Given the description of an element on the screen output the (x, y) to click on. 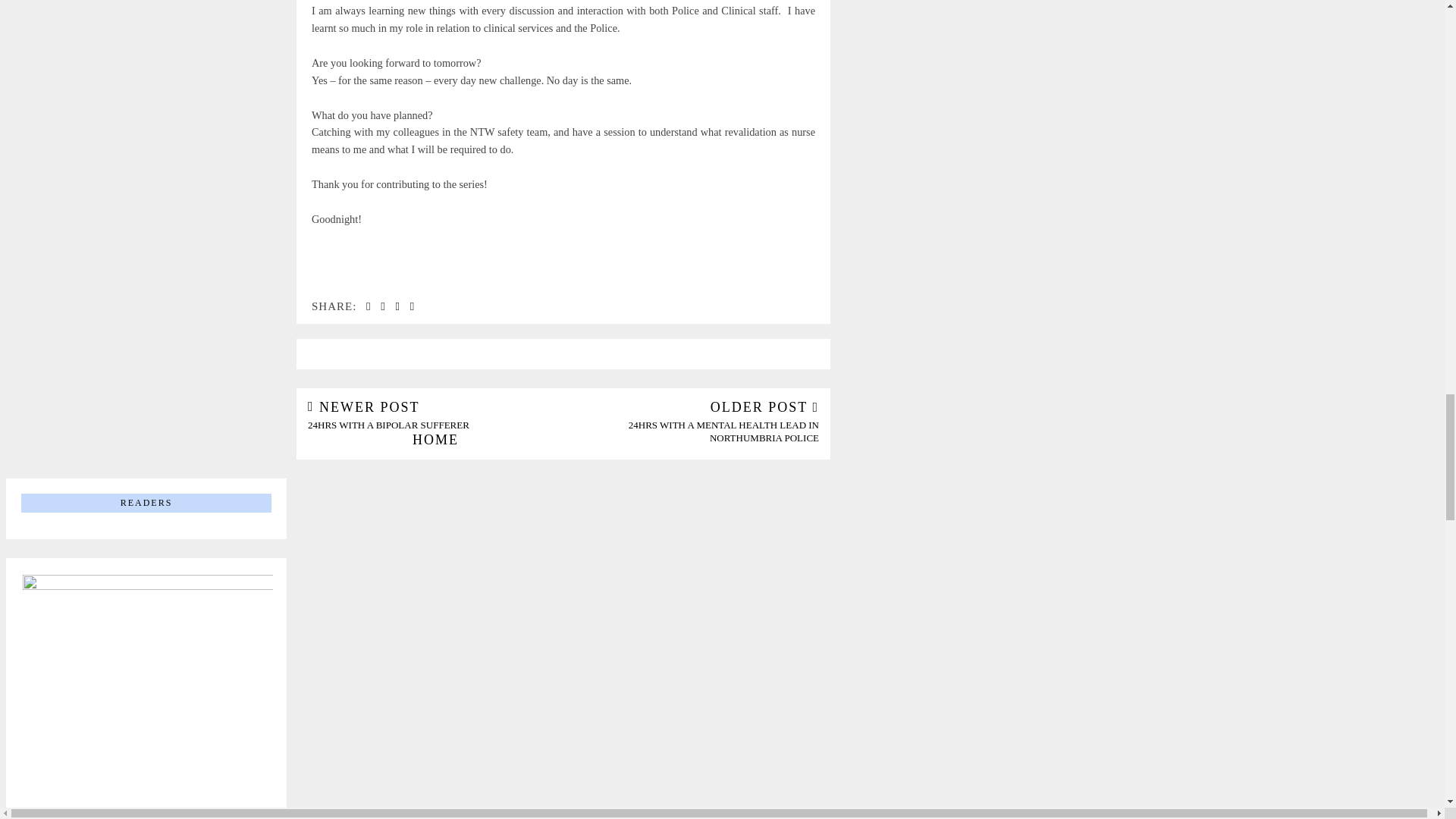
Older Post (690, 422)
Newer Post (435, 415)
HOME (435, 439)
